Given the description of an element on the screen output the (x, y) to click on. 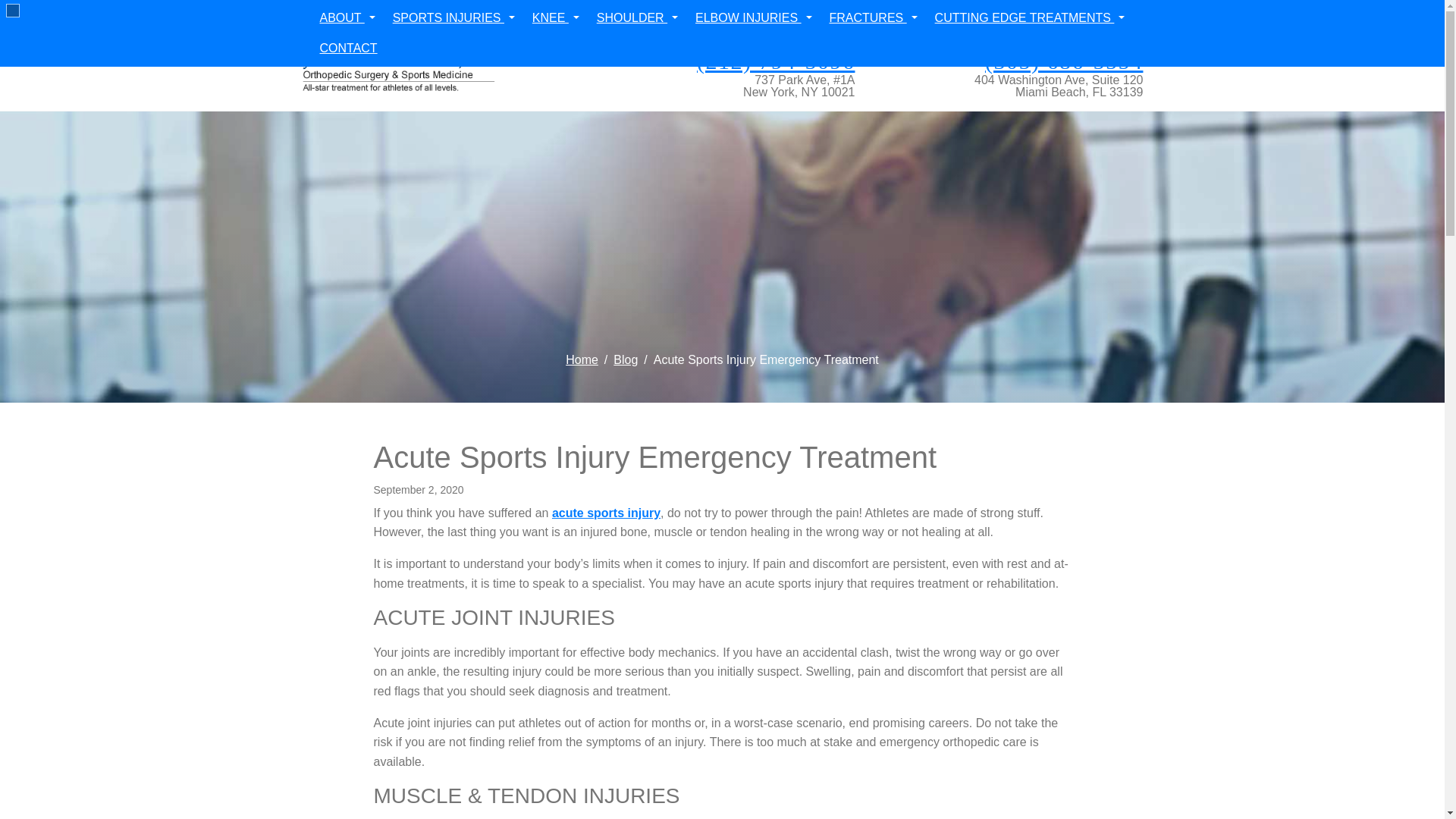
ABOUT (347, 18)
KNEE (555, 18)
New York City NY Orthopedic Sports Medicine Doctor (606, 512)
Switch to high color contrast version of the website (12, 10)
SKIP TO MAIN CONTENT (24, 10)
SPORTS INJURIES (454, 18)
